Given the description of an element on the screen output the (x, y) to click on. 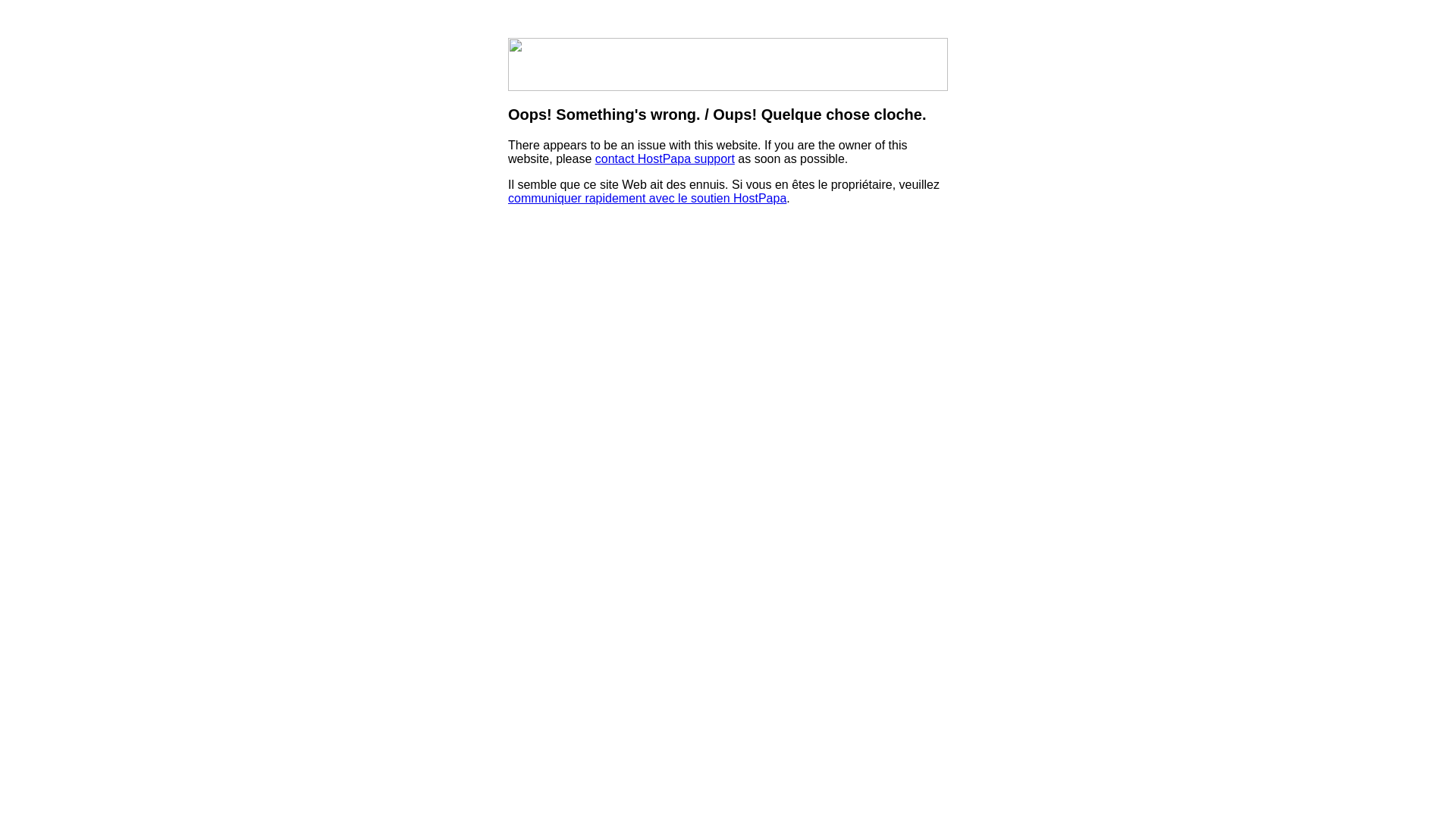
communiquer rapidement avec le soutien HostPapa Element type: text (647, 197)
contact HostPapa support Element type: text (664, 158)
